Given the description of an element on the screen output the (x, y) to click on. 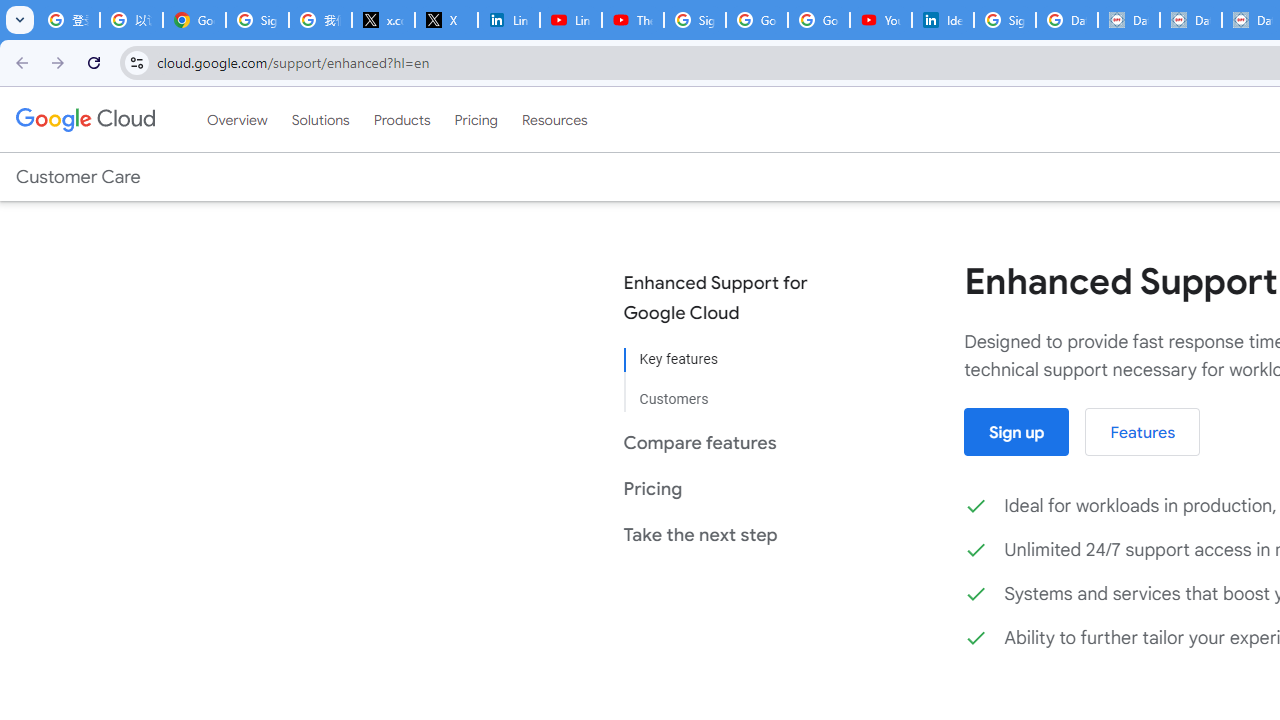
LinkedIn - YouTube (570, 20)
Sign in - Google Accounts (257, 20)
Google Cloud (84, 119)
Features (1142, 431)
Pricing (476, 119)
Products (401, 119)
Data Privacy Framework (1190, 20)
Take the next step (730, 534)
Customers (730, 391)
Data Privacy Framework (1128, 20)
